Given the description of an element on the screen output the (x, y) to click on. 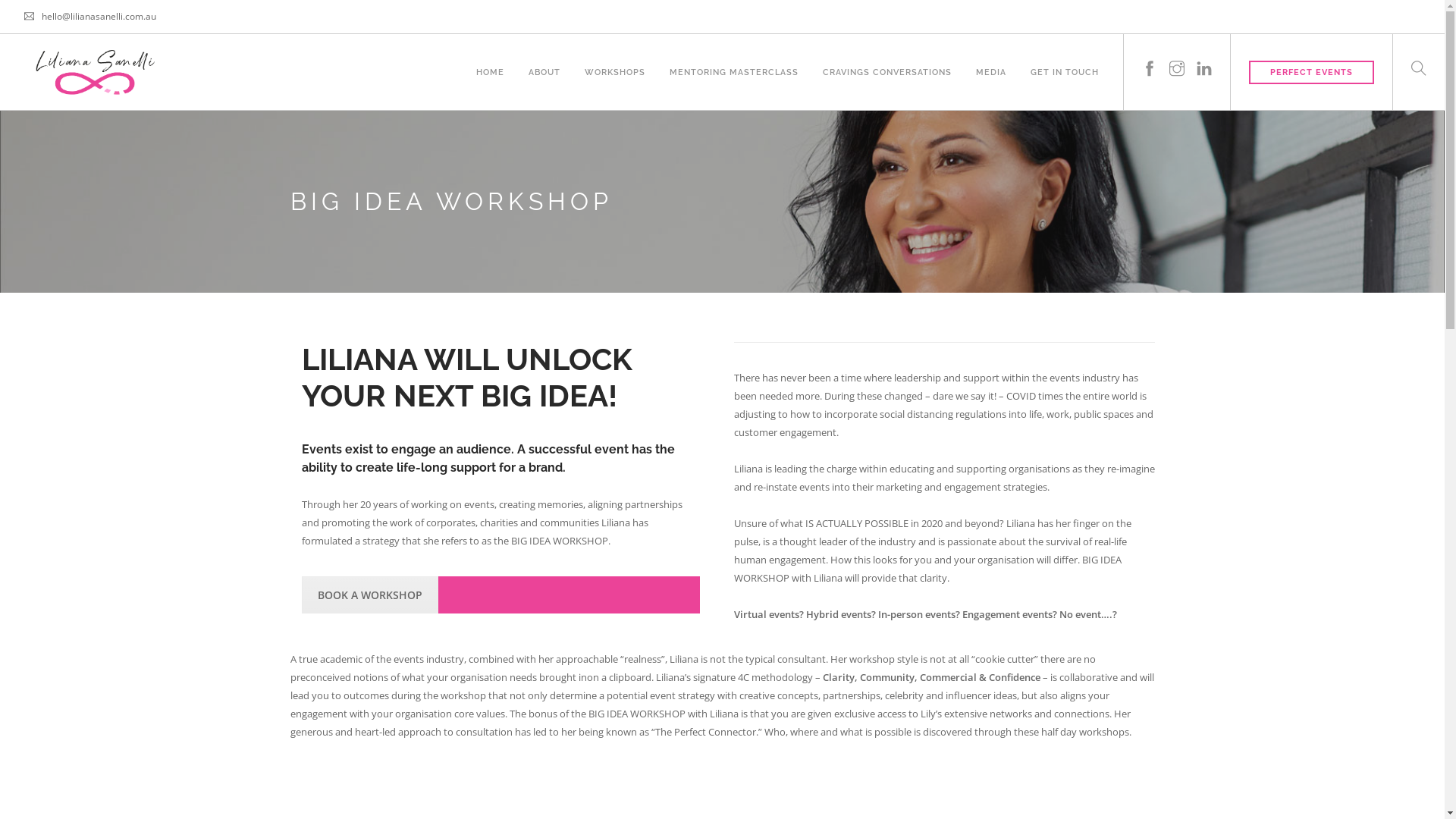
MENTORING MASTERCLASS Element type: text (733, 55)
ABOUT Element type: text (544, 55)
WORKSHOPS Element type: text (614, 55)
HOME Element type: text (490, 55)
BOOK A WORKSHOP Element type: text (369, 594)
MEDIA Element type: text (990, 55)
GET IN TOUCH Element type: text (1064, 55)
CRAVINGS CONVERSATIONS Element type: text (886, 55)
PERFECT EVENTS Element type: text (1311, 72)
